Given the description of an element on the screen output the (x, y) to click on. 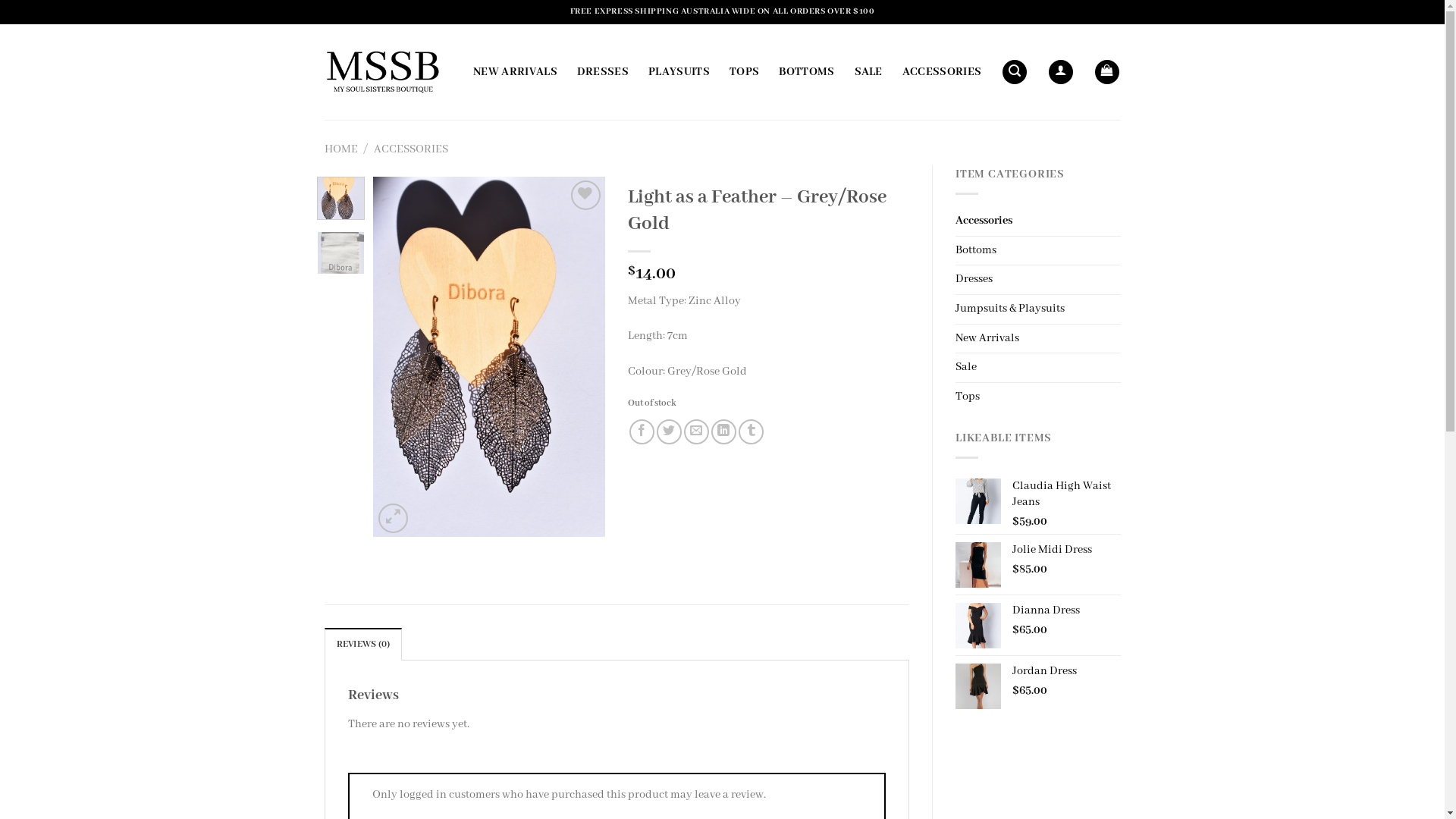
Jolie Midi Dress Element type: text (1066, 550)
Share on Facebook Element type: hover (641, 431)
Zoom Element type: hover (392, 518)
Cart Element type: hover (1107, 71)
Share on LinkedIn Element type: hover (723, 431)
Share on Tumblr Element type: hover (750, 431)
DSC_0127 Element type: hover (489, 356)
SALE Element type: text (867, 71)
DRESSES Element type: text (602, 71)
Tops Element type: text (1037, 396)
PLAYSUITS Element type: text (678, 71)
Dresses Element type: text (1037, 279)
Jumpsuits & Playsuits Element type: text (1037, 308)
Claudia High Waist Jeans Element type: text (1066, 494)
Jordan Dress Element type: text (1066, 671)
HOME Element type: text (340, 149)
TOPS Element type: text (744, 71)
ACCESSORIES Element type: text (942, 71)
Share on Twitter Element type: hover (668, 431)
Dianna Dress Element type: text (1066, 610)
New Arrivals Element type: text (1037, 338)
Accessories Element type: text (1037, 221)
ACCESSORIES Element type: text (410, 149)
Email to a Friend Element type: hover (696, 431)
Sale Element type: text (1037, 367)
DSC_0025 Element type: hover (257, 356)
NEW ARRIVALS Element type: text (515, 71)
REVIEWS (0) Element type: text (363, 643)
BOTTOMS Element type: text (806, 71)
Bottoms Element type: text (1037, 250)
